Given the description of an element on the screen output the (x, y) to click on. 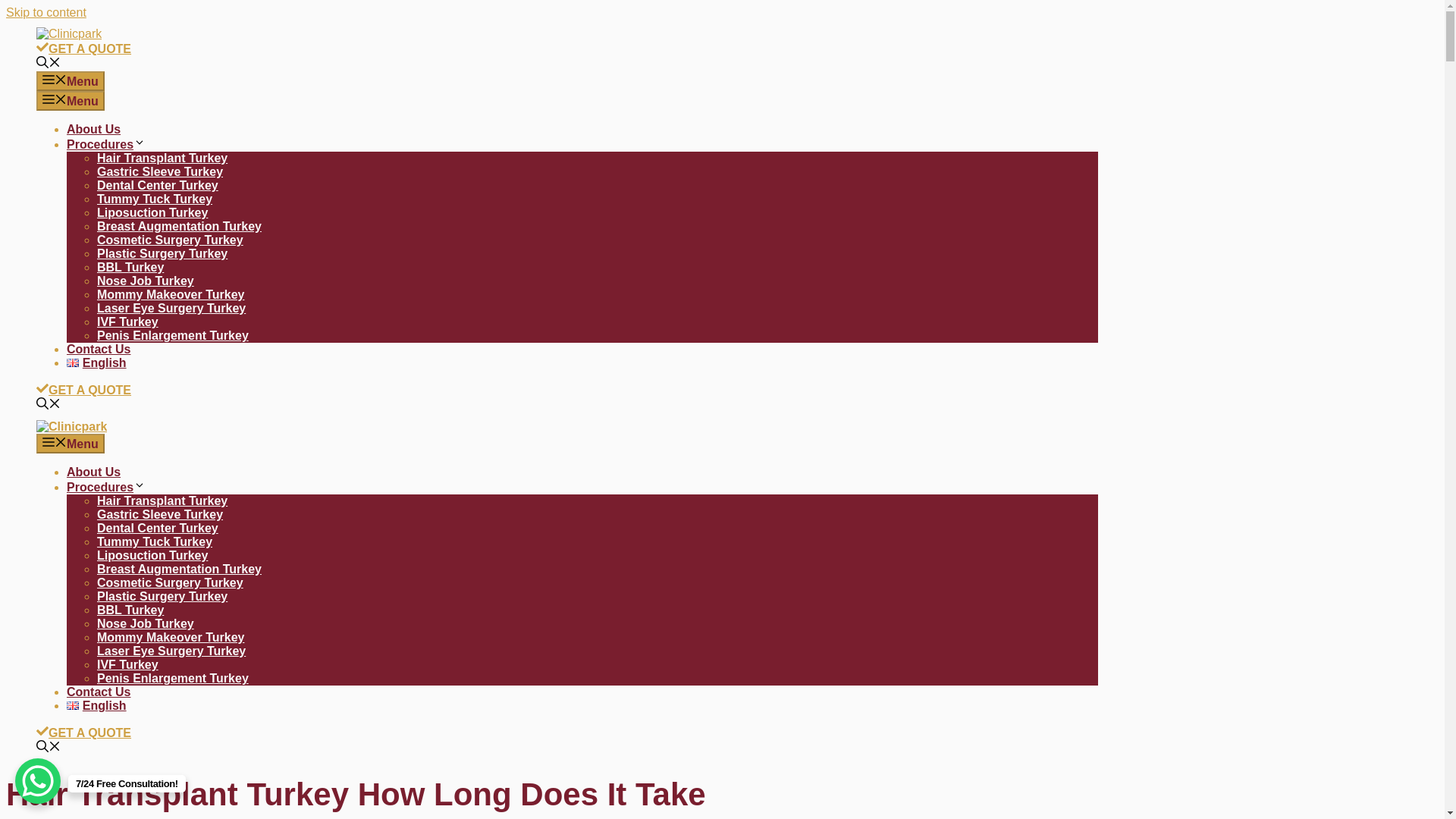
Procedures (105, 144)
Hair Transplant Turkey (162, 157)
Procedures (105, 486)
Gastric Sleeve Turkey (159, 171)
Clinicpark (71, 426)
Plastic Surgery Turkey (162, 595)
Contact Us (98, 349)
Cosmetic Surgery Turkey (170, 582)
Mommy Makeover Turkey (170, 294)
Cosmetic Surgery Turkey (170, 239)
